Given the description of an element on the screen output the (x, y) to click on. 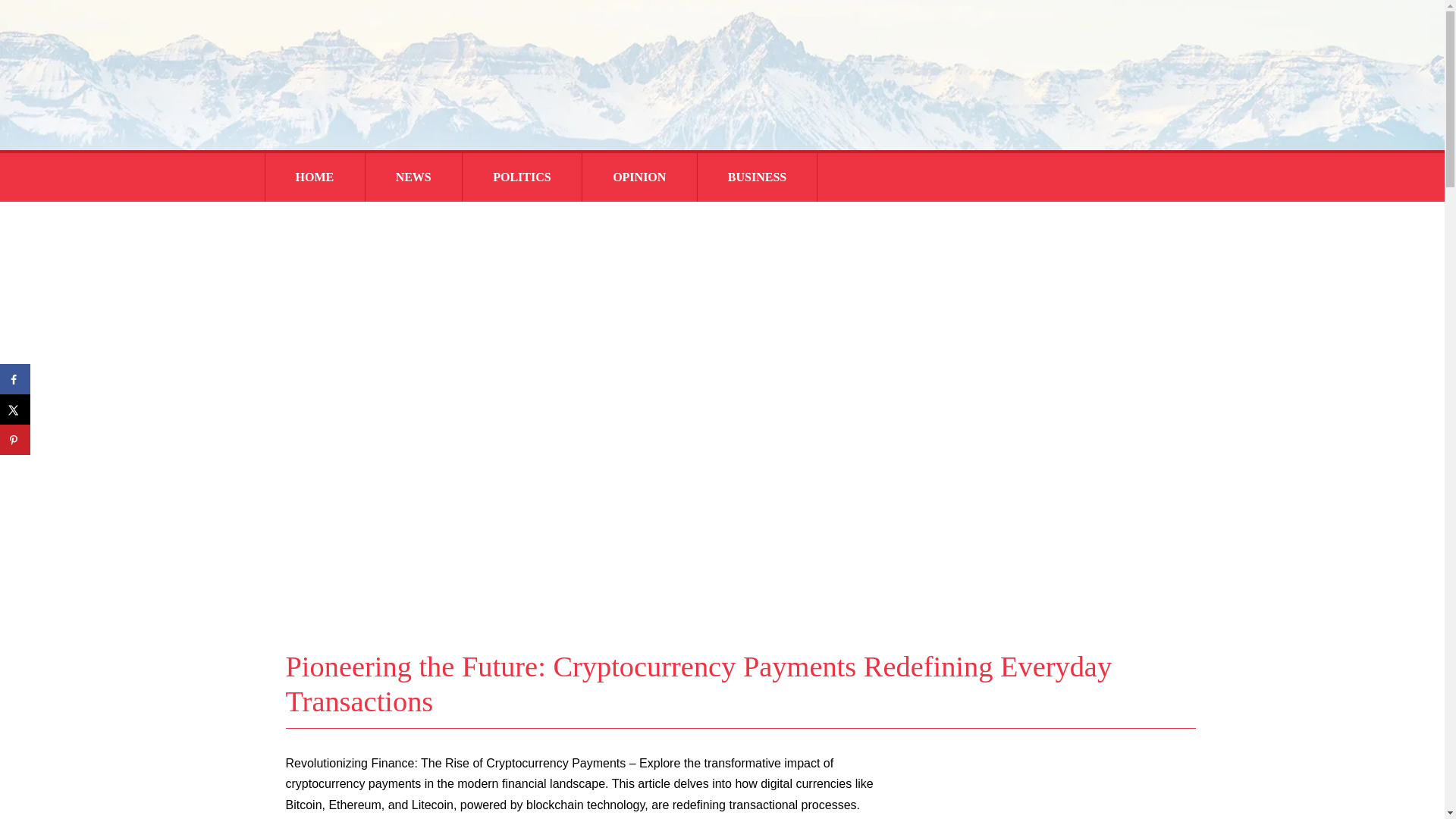
NEWS (413, 177)
BUSINESS (756, 177)
HOME (314, 177)
ENERGY (772, 220)
POLITICS (521, 177)
MONTANA (538, 220)
MONTANA (440, 220)
OPINION (638, 177)
